Given the description of an element on the screen output the (x, y) to click on. 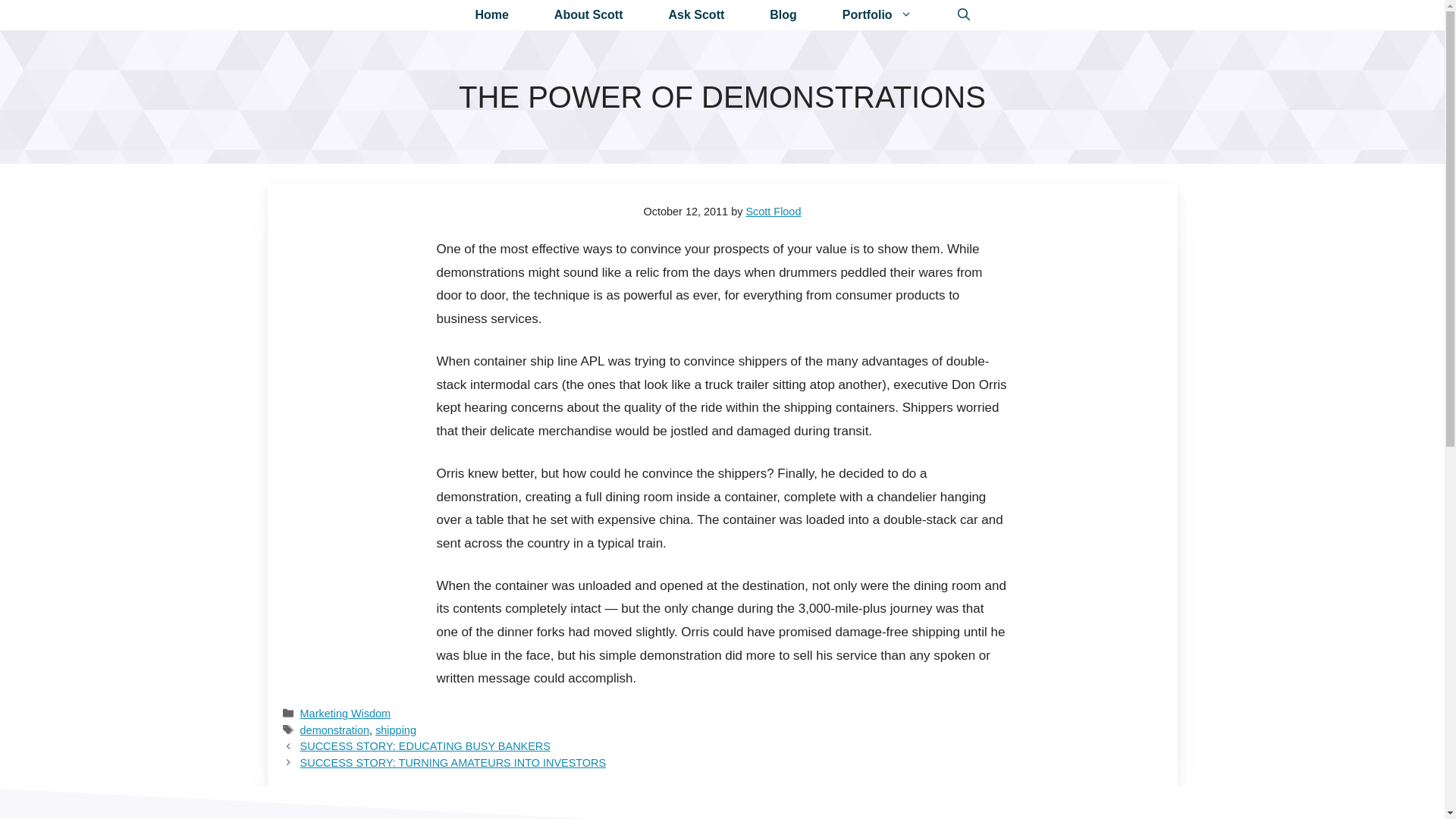
Blog (782, 15)
View all posts by Scott Flood (772, 211)
Home (491, 15)
About Scott Flood (588, 15)
About Scott (588, 15)
Ask Scott (697, 15)
demonstration (334, 729)
Marketing Wisdom (345, 713)
shipping (395, 729)
FAQs (697, 15)
Portfolio (876, 15)
SUCCESS STORY: EDUCATING BUSY BANKERS (424, 746)
Scott Flood (772, 211)
SUCCESS STORY: TURNING AMATEURS INTO INVESTORS (453, 762)
